Given the description of an element on the screen output the (x, y) to click on. 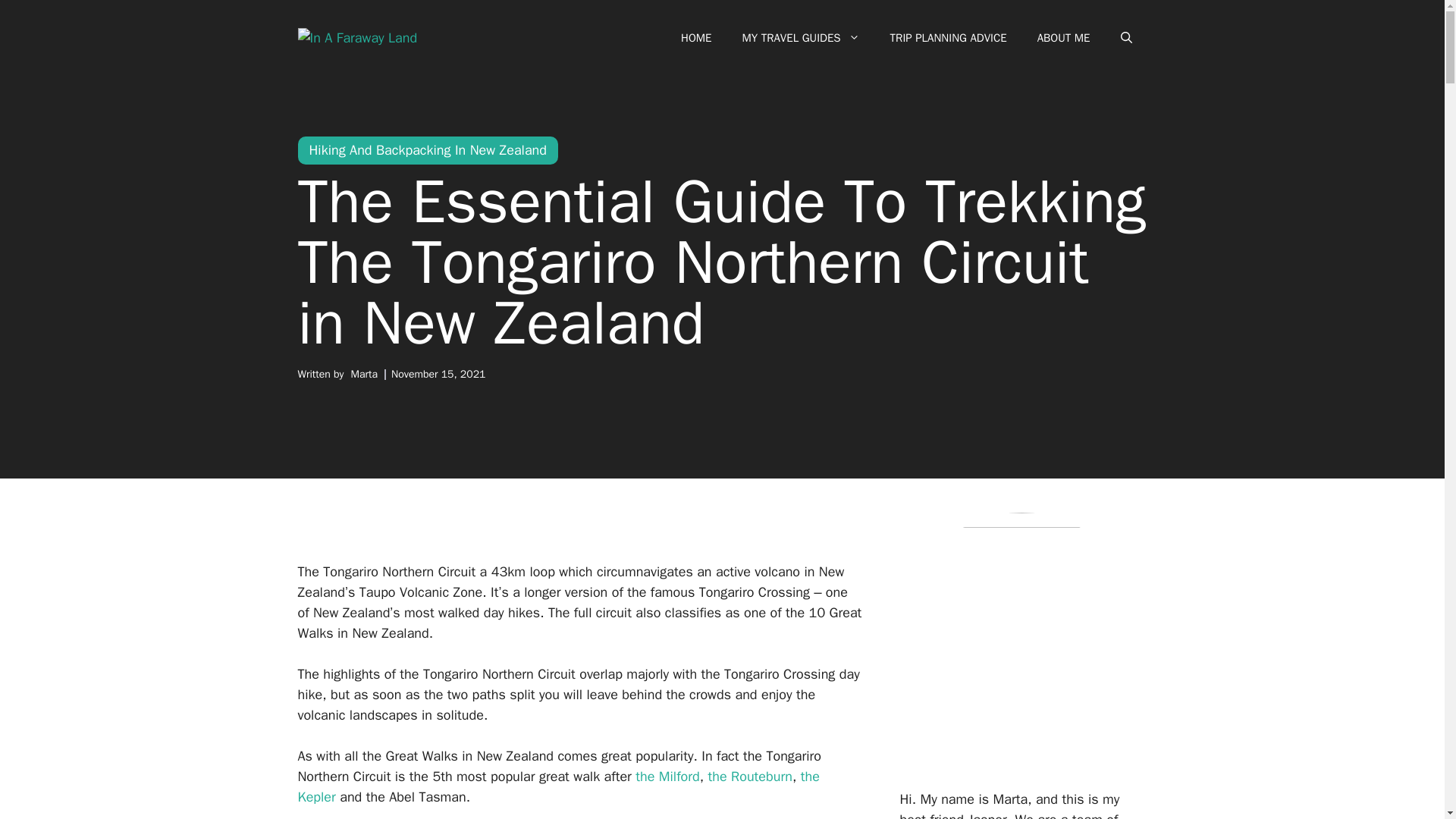
ABOUT ME (1063, 37)
Marta (363, 373)
the Routeburn (749, 776)
the Milford (666, 776)
TRIP PLANNING ADVICE (948, 37)
the Kepler (557, 786)
MY TRAVEL GUIDES (800, 37)
HOME (695, 37)
